Given the description of an element on the screen output the (x, y) to click on. 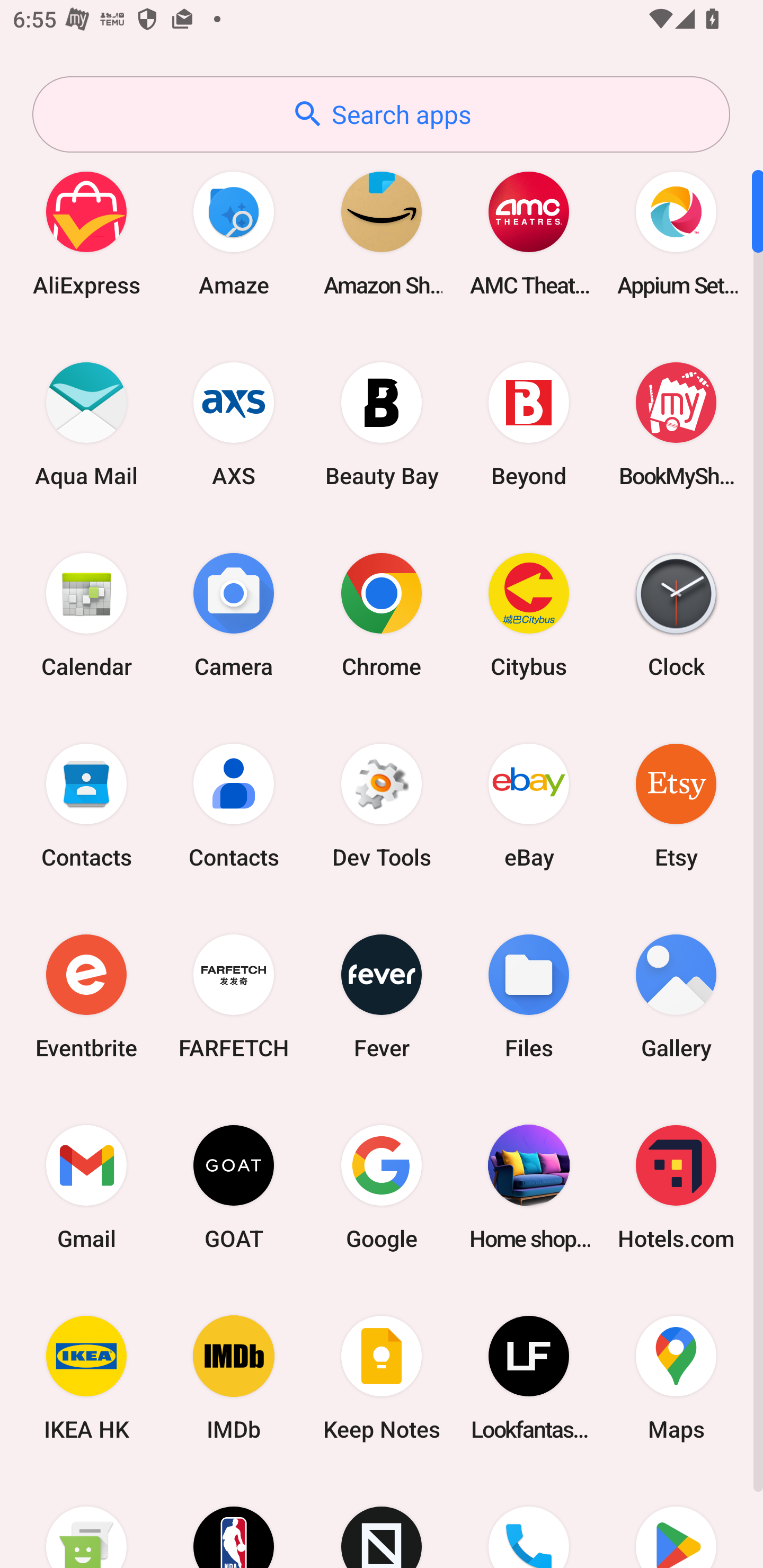
  Search apps (381, 114)
AliExpress (86, 233)
Amaze (233, 233)
Amazon Shopping (381, 233)
AMC Theatres (528, 233)
Appium Settings (676, 233)
Aqua Mail (86, 424)
AXS (233, 424)
Beauty Bay (381, 424)
Beyond (528, 424)
BookMyShow (676, 424)
Calendar (86, 614)
Camera (233, 614)
Chrome (381, 614)
Citybus (528, 614)
Clock (676, 614)
Contacts (86, 805)
Contacts (233, 805)
Dev Tools (381, 805)
eBay (528, 805)
Etsy (676, 805)
Eventbrite (86, 996)
FARFETCH (233, 996)
Fever (381, 996)
Files (528, 996)
Gallery (676, 996)
Gmail (86, 1186)
GOAT (233, 1186)
Google (381, 1186)
Home shopping (528, 1186)
Hotels.com (676, 1186)
IKEA HK (86, 1377)
IMDb (233, 1377)
Keep Notes (381, 1377)
Lookfantastic (528, 1377)
Maps (676, 1377)
Messaging (86, 1520)
NBA (233, 1520)
Novelship (381, 1520)
Phone (528, 1520)
Play Store (676, 1520)
